Given the description of an element on the screen output the (x, y) to click on. 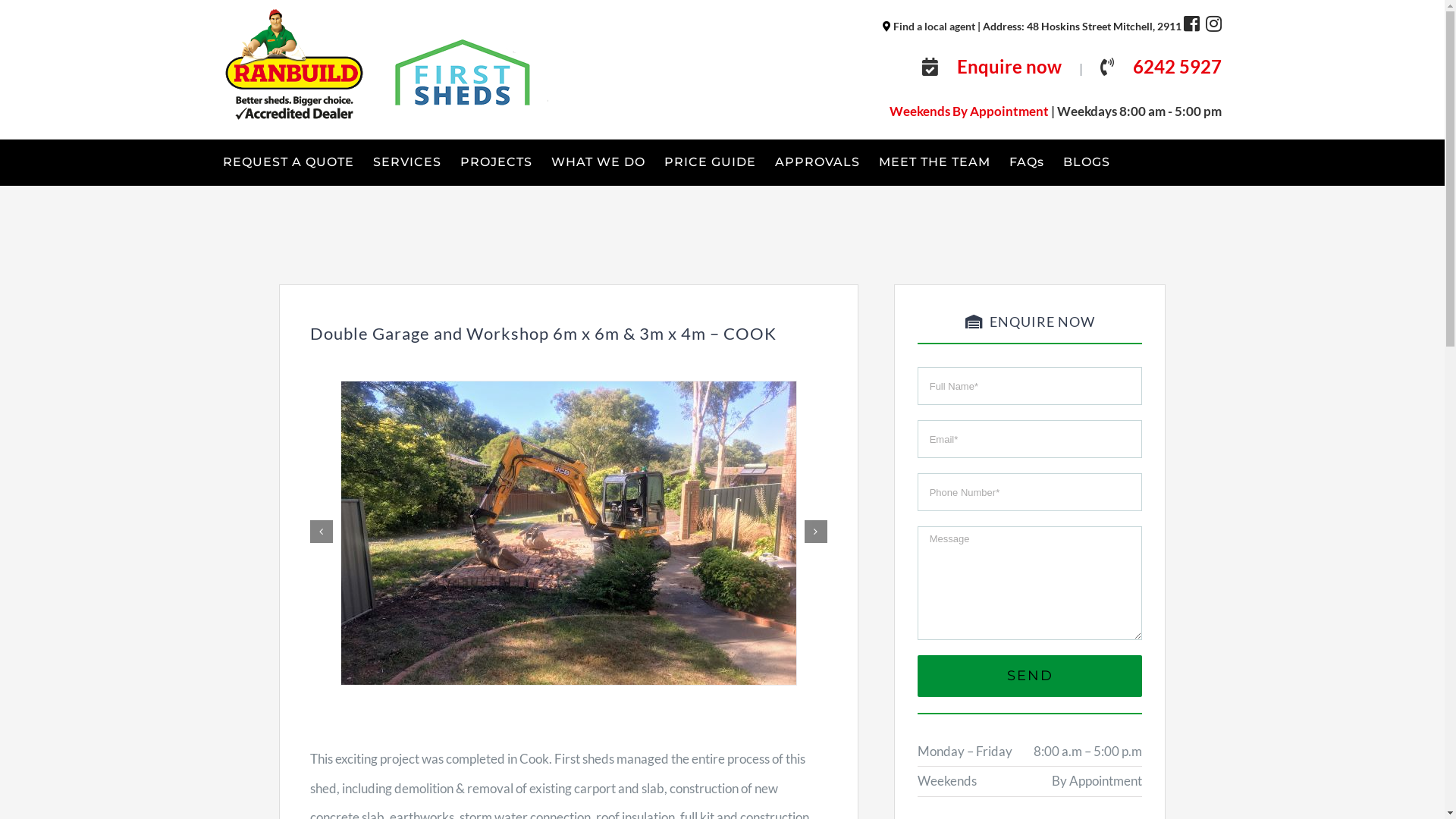
MEET THE TEAM Element type: text (934, 162)
WHAT WE DO Element type: text (598, 162)
Address: 48 Hoskins Street Mitchell, 2911 Element type: text (1082, 25)
PROJECTS Element type: text (496, 162)
REQUEST A QUOTE Element type: text (288, 162)
APPROVALS Element type: text (817, 162)
Enquire now Element type: text (1016, 68)
Send Element type: text (1029, 675)
6242 5927 Element type: text (1176, 66)
PRICE GUIDE Element type: text (710, 162)
SERVICES Element type: text (407, 162)
BLOGS Element type: text (1086, 162)
FAQs Element type: text (1026, 162)
